Given the description of an element on the screen output the (x, y) to click on. 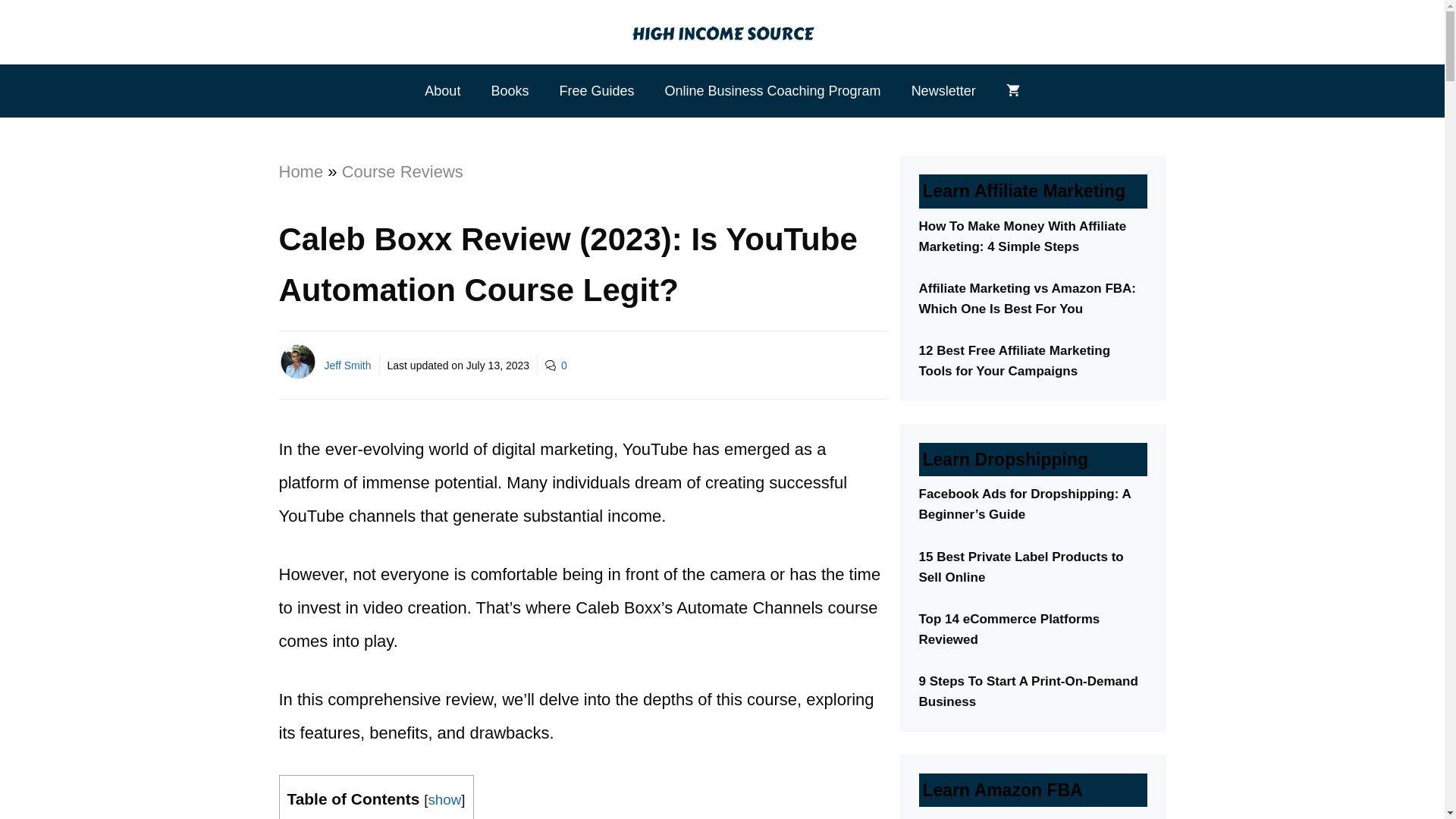
Online Business Coaching Program (772, 90)
Books (509, 90)
Free Guides (596, 90)
show (444, 799)
Newsletter (943, 90)
About (442, 90)
Course Reviews (402, 171)
Jeff Smith (347, 365)
Home (301, 171)
